Given the description of an element on the screen output the (x, y) to click on. 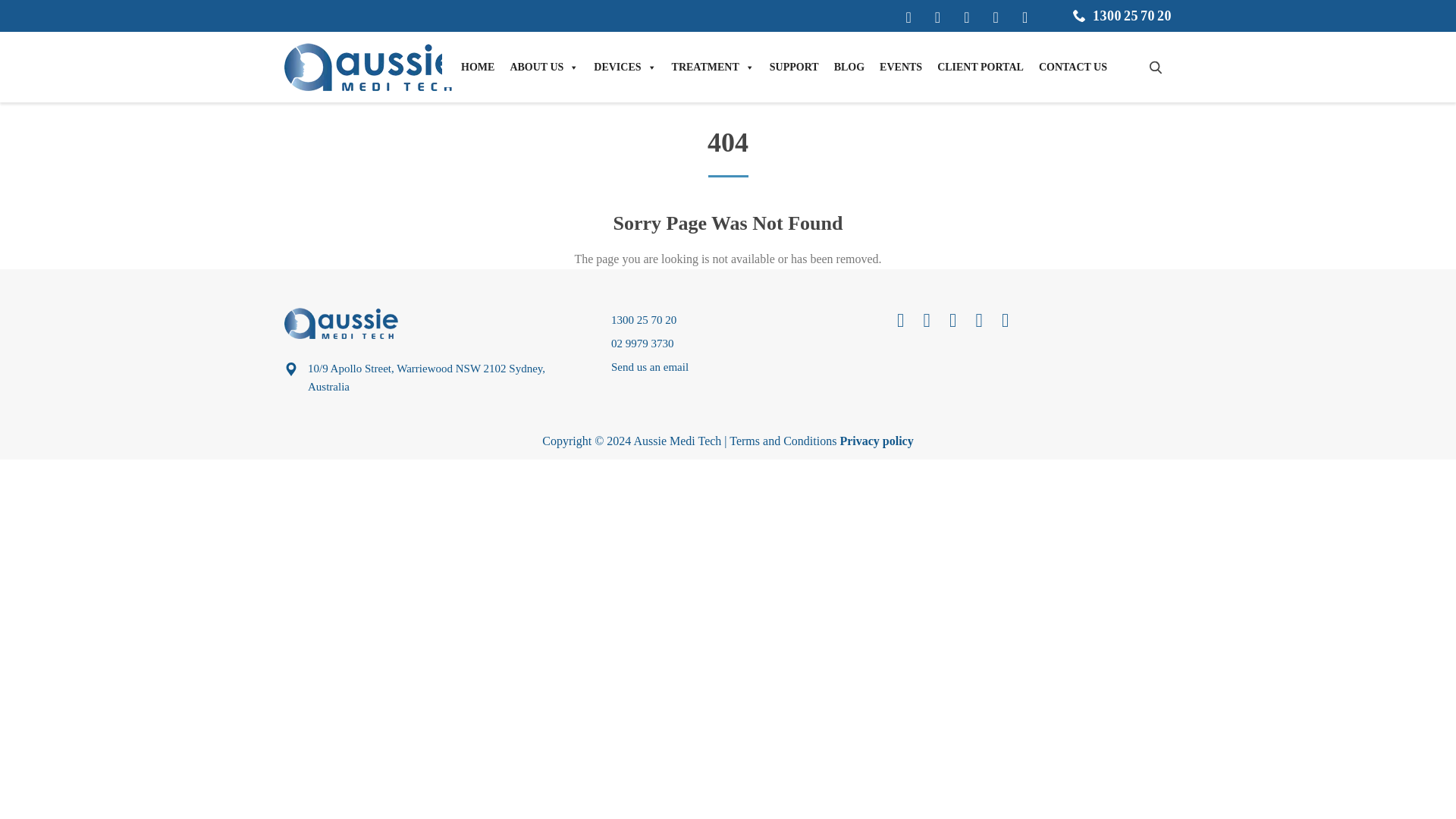
ABOUT US (544, 66)
DEVICES (624, 66)
HOME (477, 66)
1300 25 70 20 (1132, 15)
telephone-1 (1080, 15)
